Given the description of an element on the screen output the (x, y) to click on. 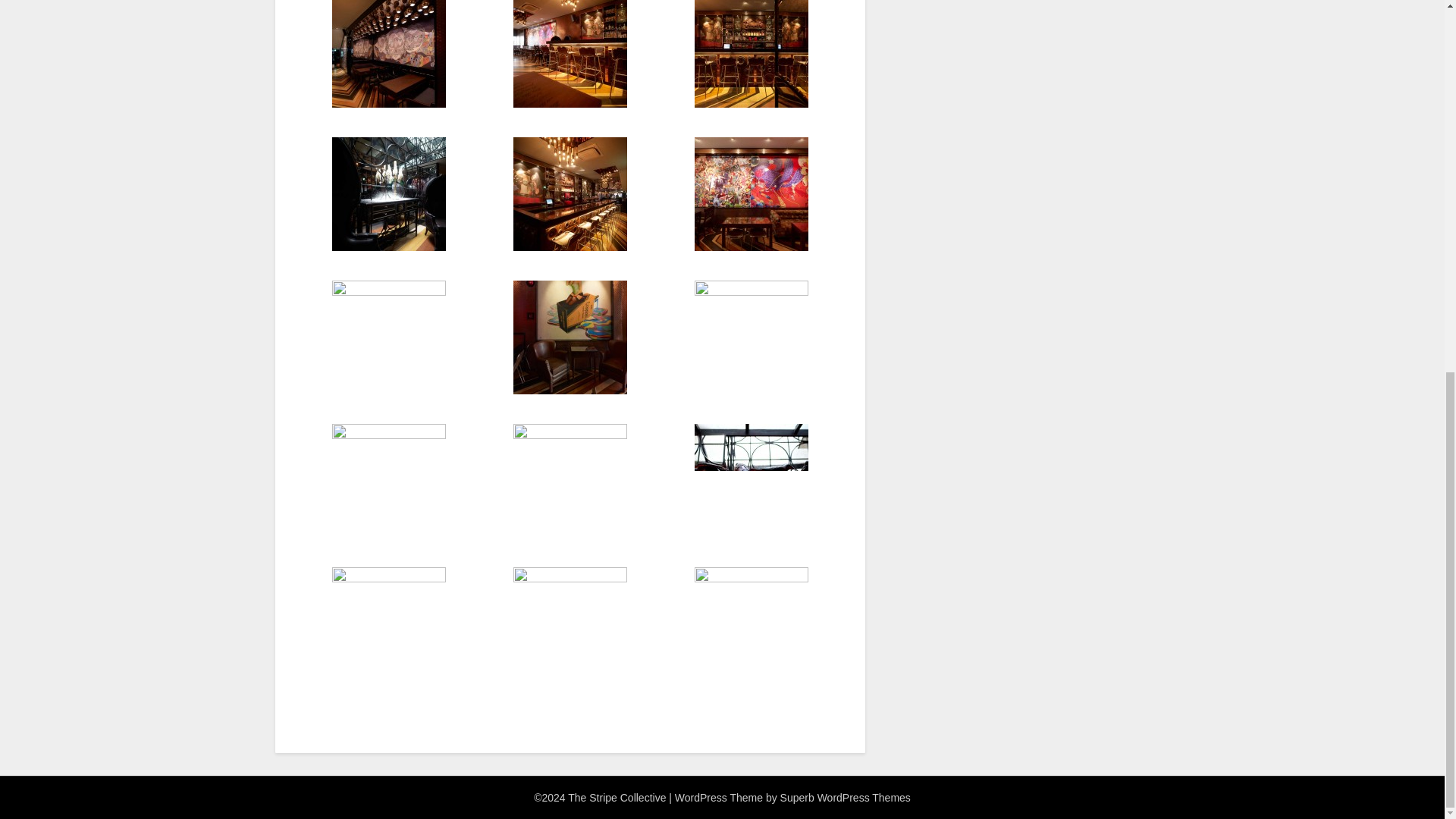
Superb WordPress Themes (845, 797)
